Given the description of an element on the screen output the (x, y) to click on. 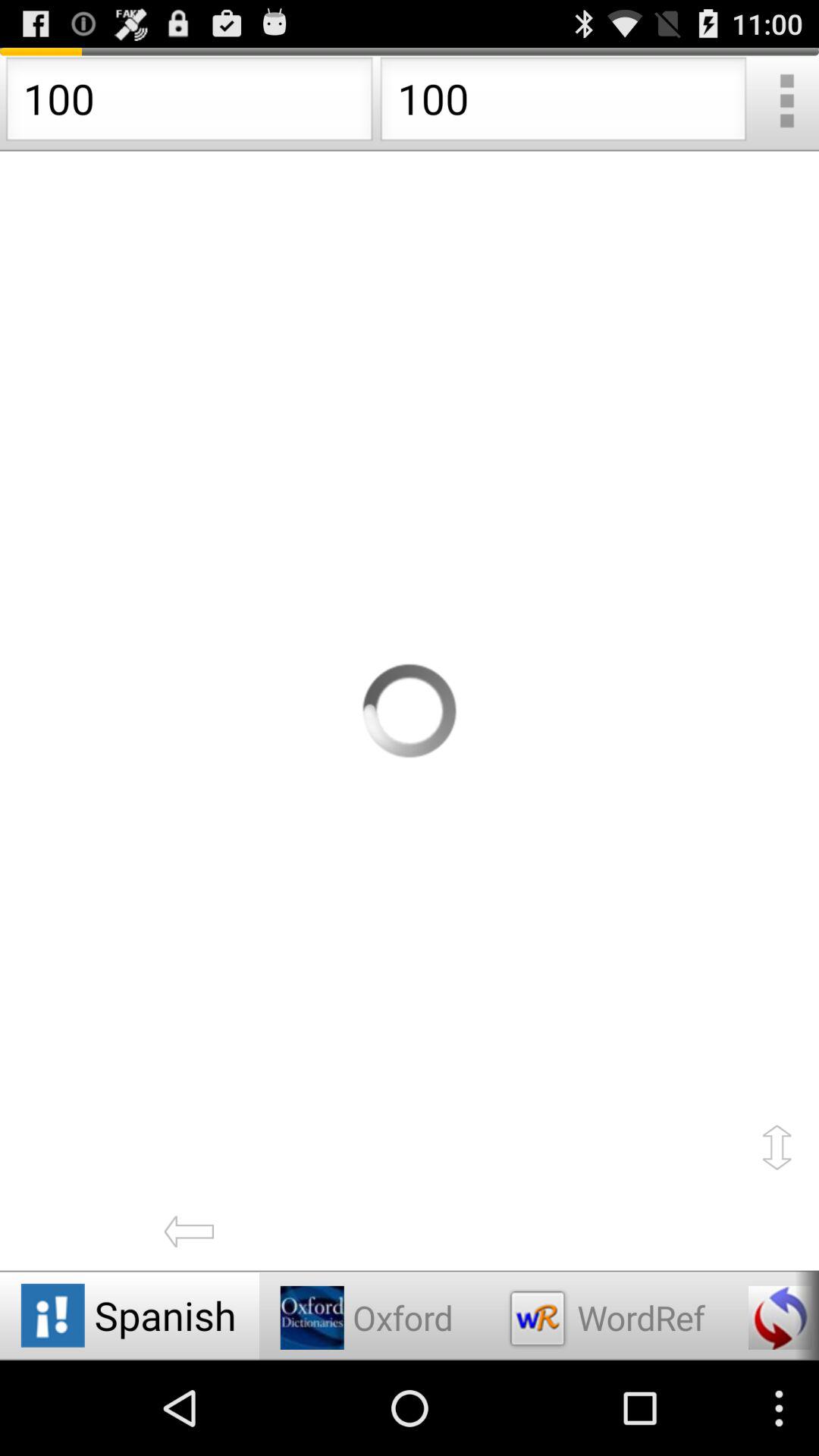
loding page (409, 710)
